Given the description of an element on the screen output the (x, y) to click on. 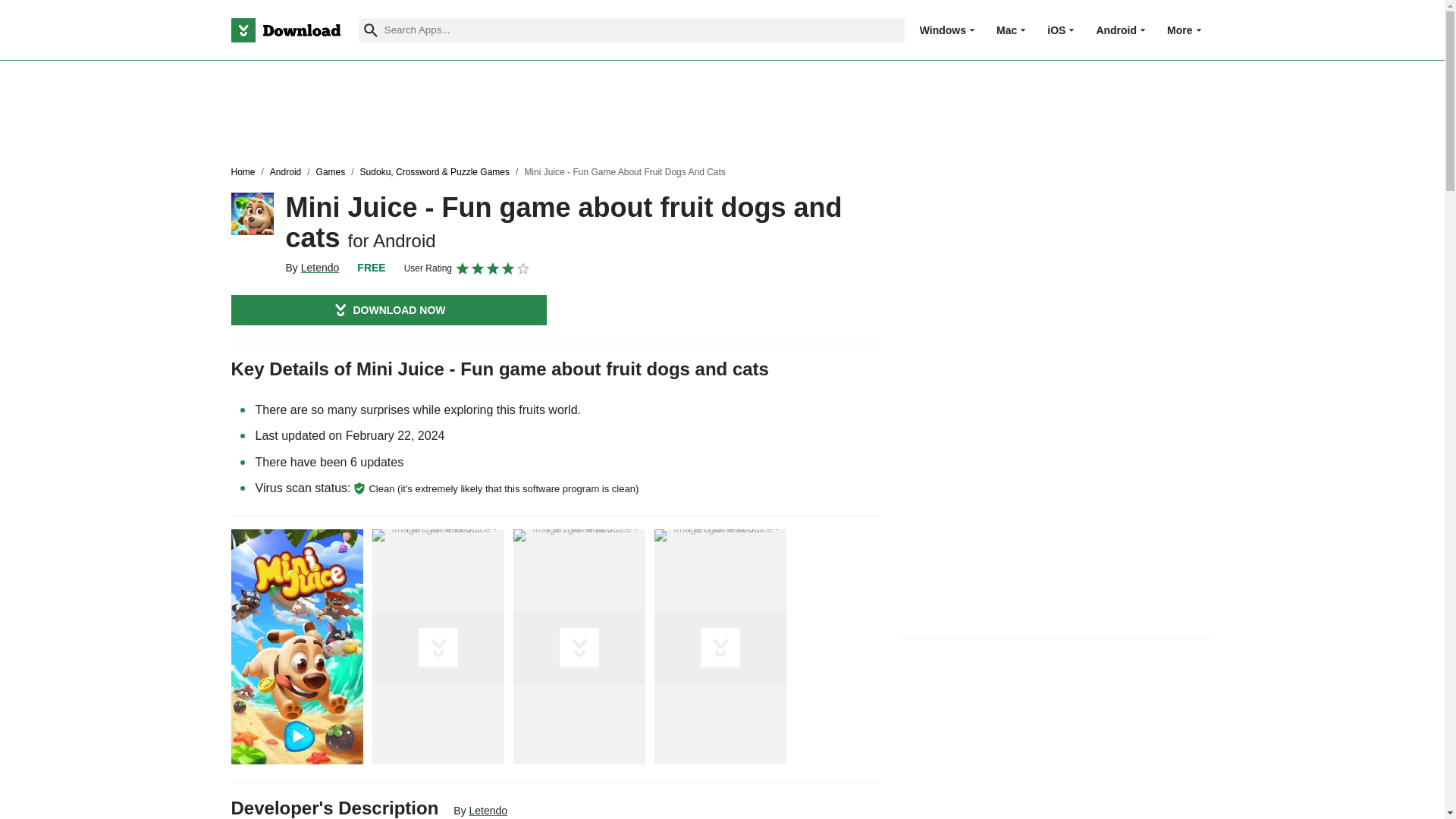
Mini Juice - Fun game about fruit dogs and cats for Android (251, 213)
Windows (943, 29)
Mac (1005, 29)
